Given the description of an element on the screen output the (x, y) to click on. 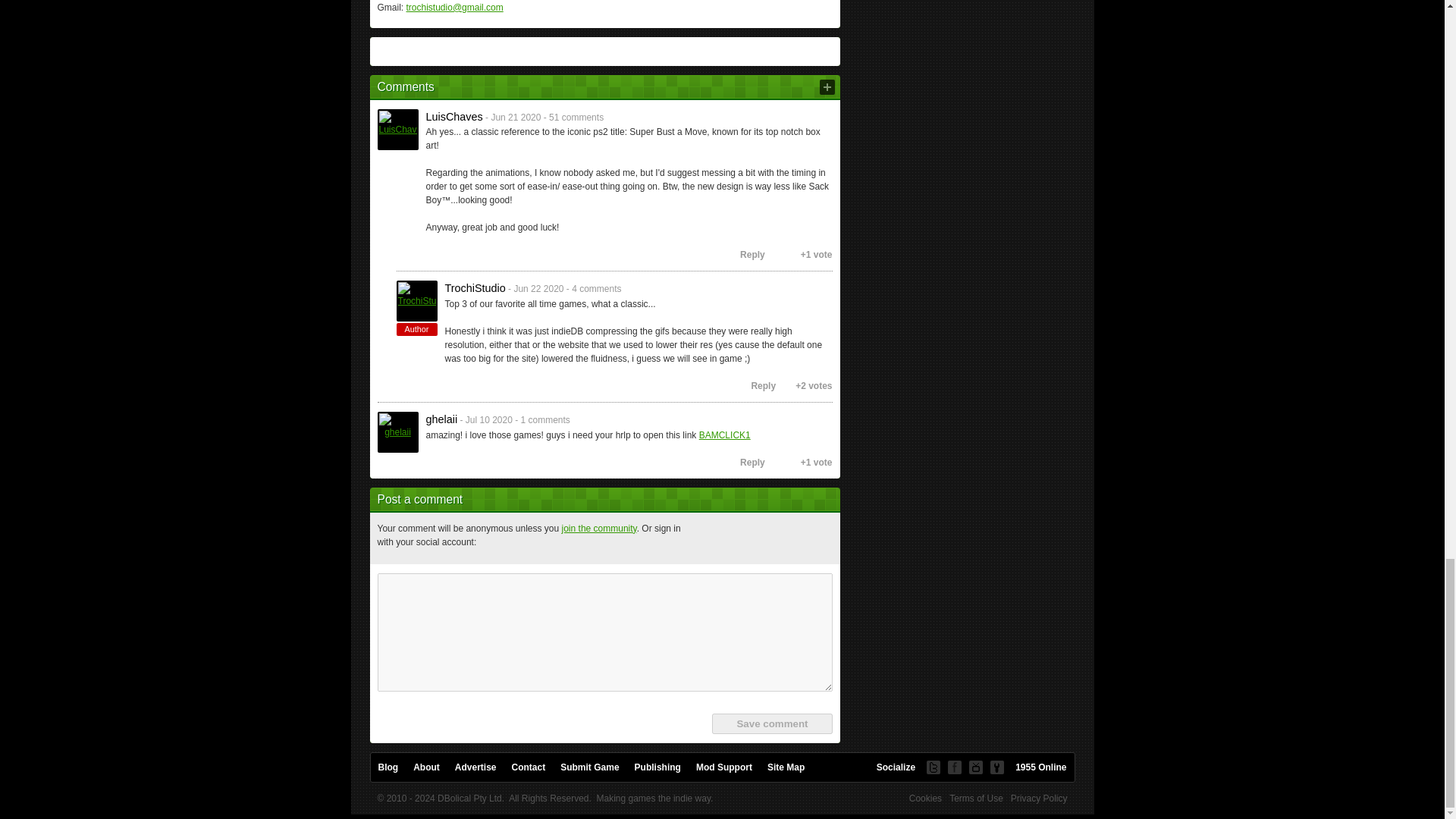
LuisChaves (398, 128)
Reply (745, 254)
Save comment (771, 723)
Good karma (774, 254)
Bad karma (790, 254)
Post comment (826, 87)
